Given the description of an element on the screen output the (x, y) to click on. 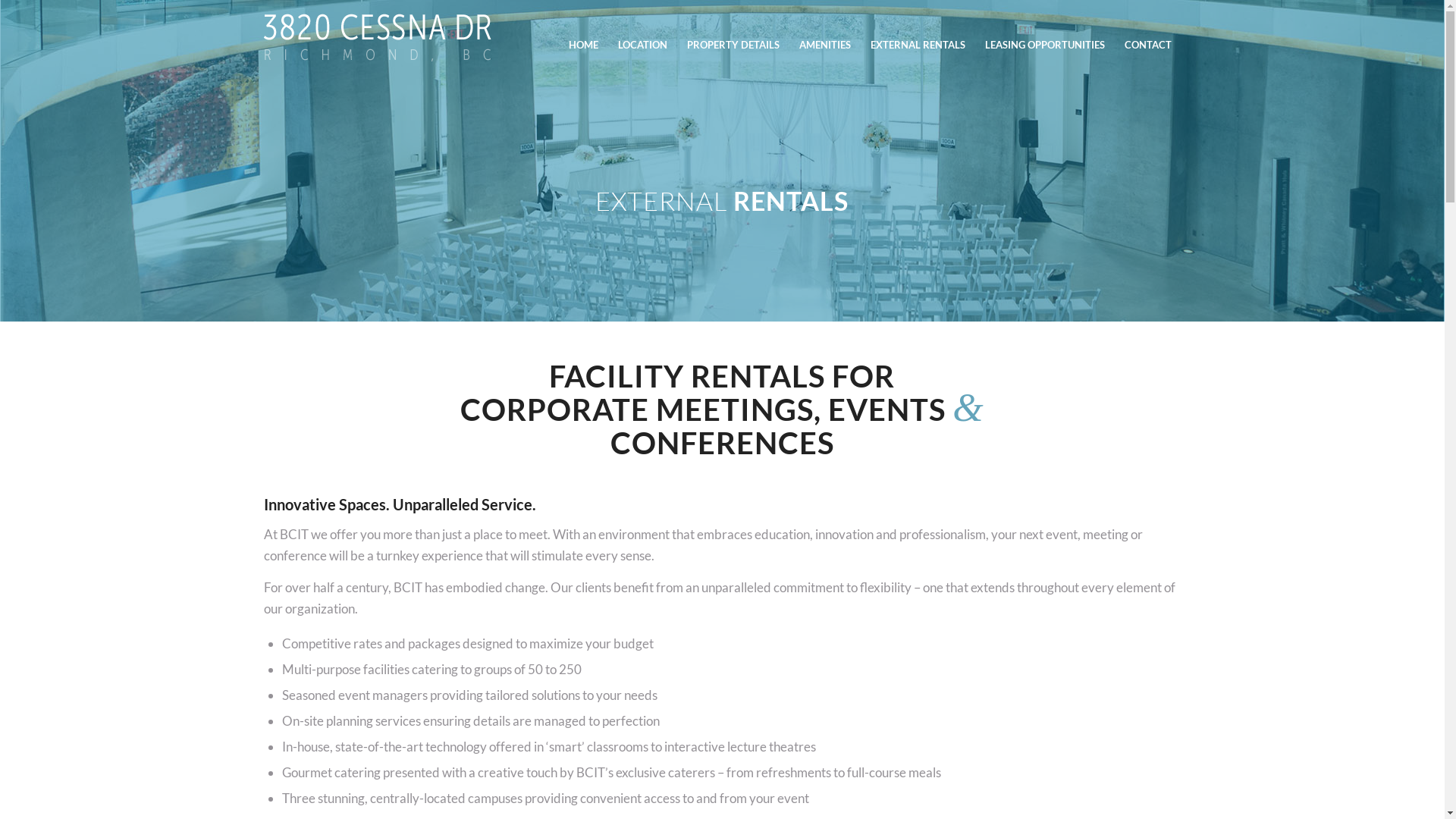
LEASING OPPORTUNITIES Element type: text (1044, 44)
LOCATION Element type: text (642, 44)
AMENITIES Element type: text (823, 44)
CONTACT Element type: text (1147, 44)
EXTERNAL RENTALS Element type: text (916, 44)
HOME Element type: text (582, 44)
PROPERTY DETAILS Element type: text (732, 44)
